Given the description of an element on the screen output the (x, y) to click on. 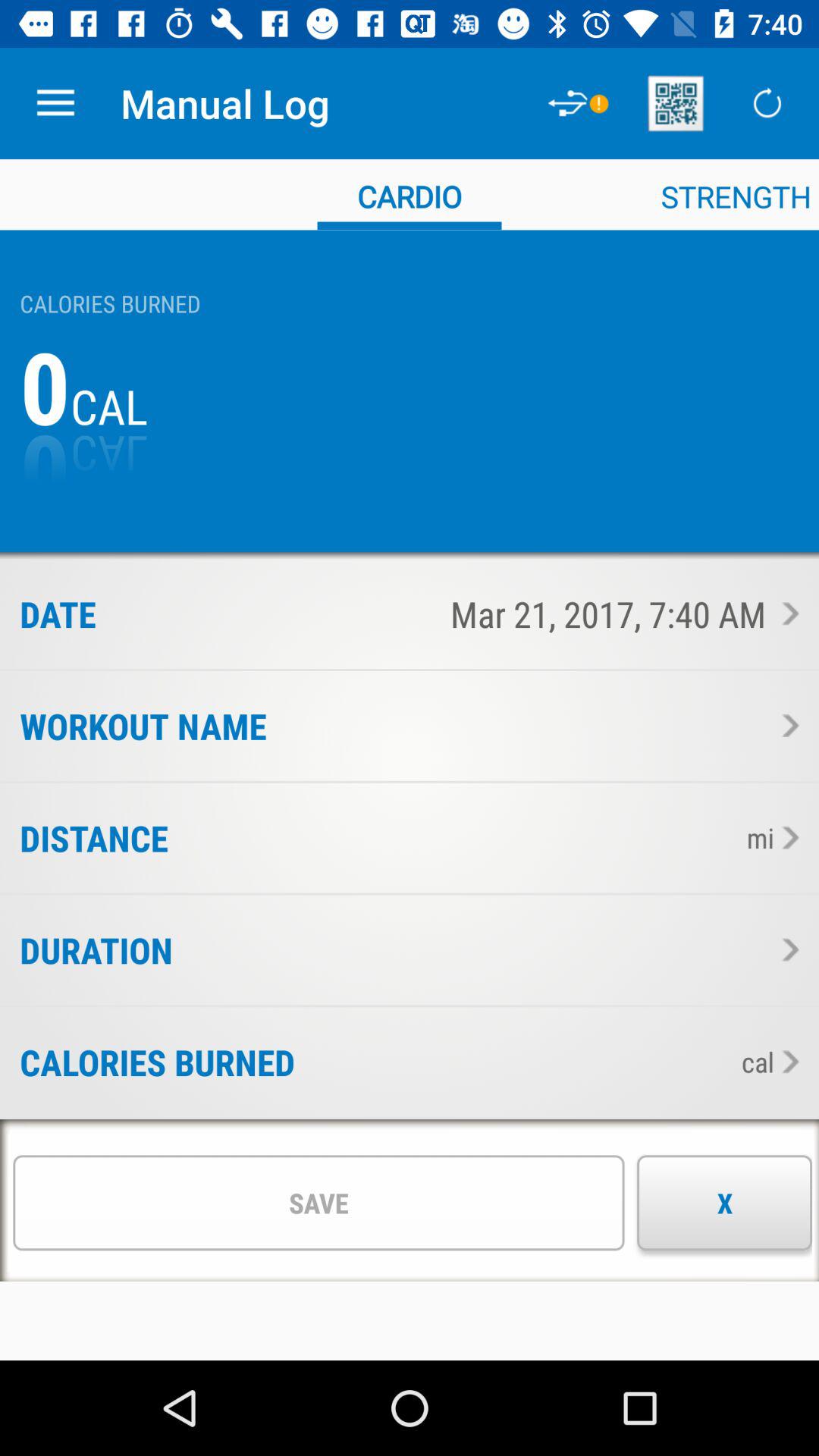
click icon next to the save item (724, 1202)
